Given the description of an element on the screen output the (x, y) to click on. 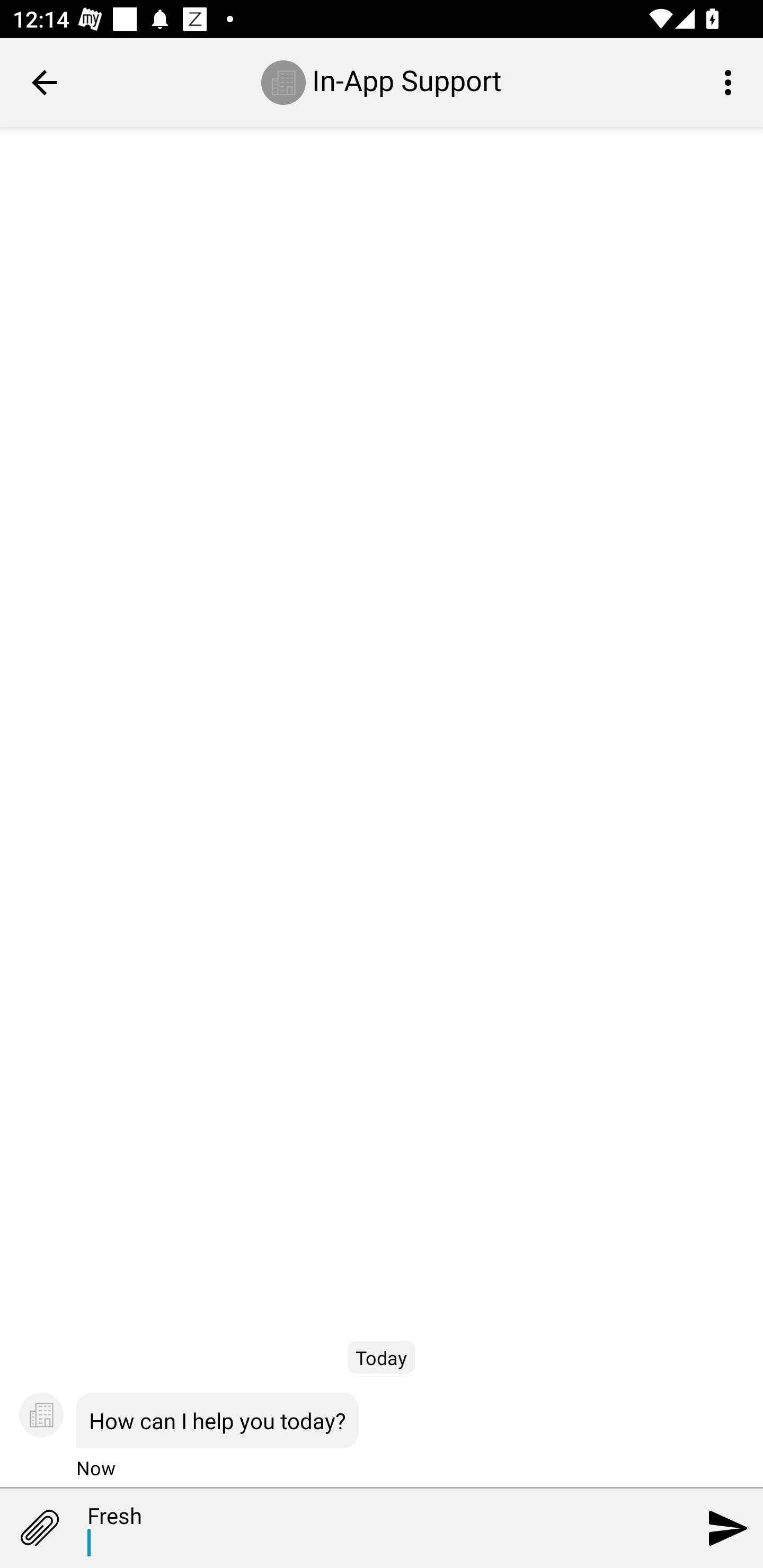
Navigate up (44, 82)
More options (731, 81)
Attachment menu button collapsed (39, 1528)
SEND (727, 1528)
Fresh
 (357, 1528)
